Given the description of an element on the screen output the (x, y) to click on. 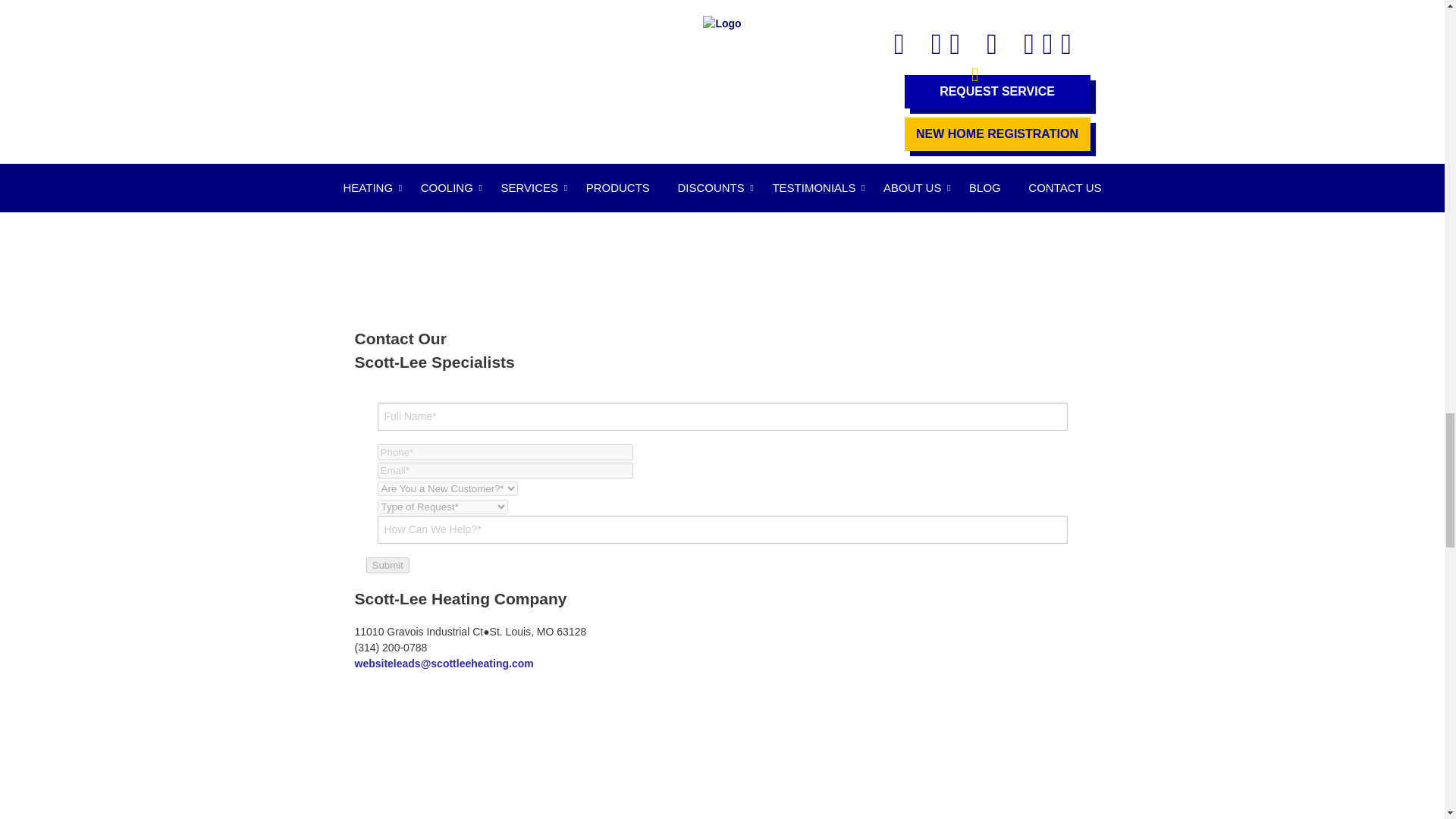
Submit (387, 565)
